Given the description of an element on the screen output the (x, y) to click on. 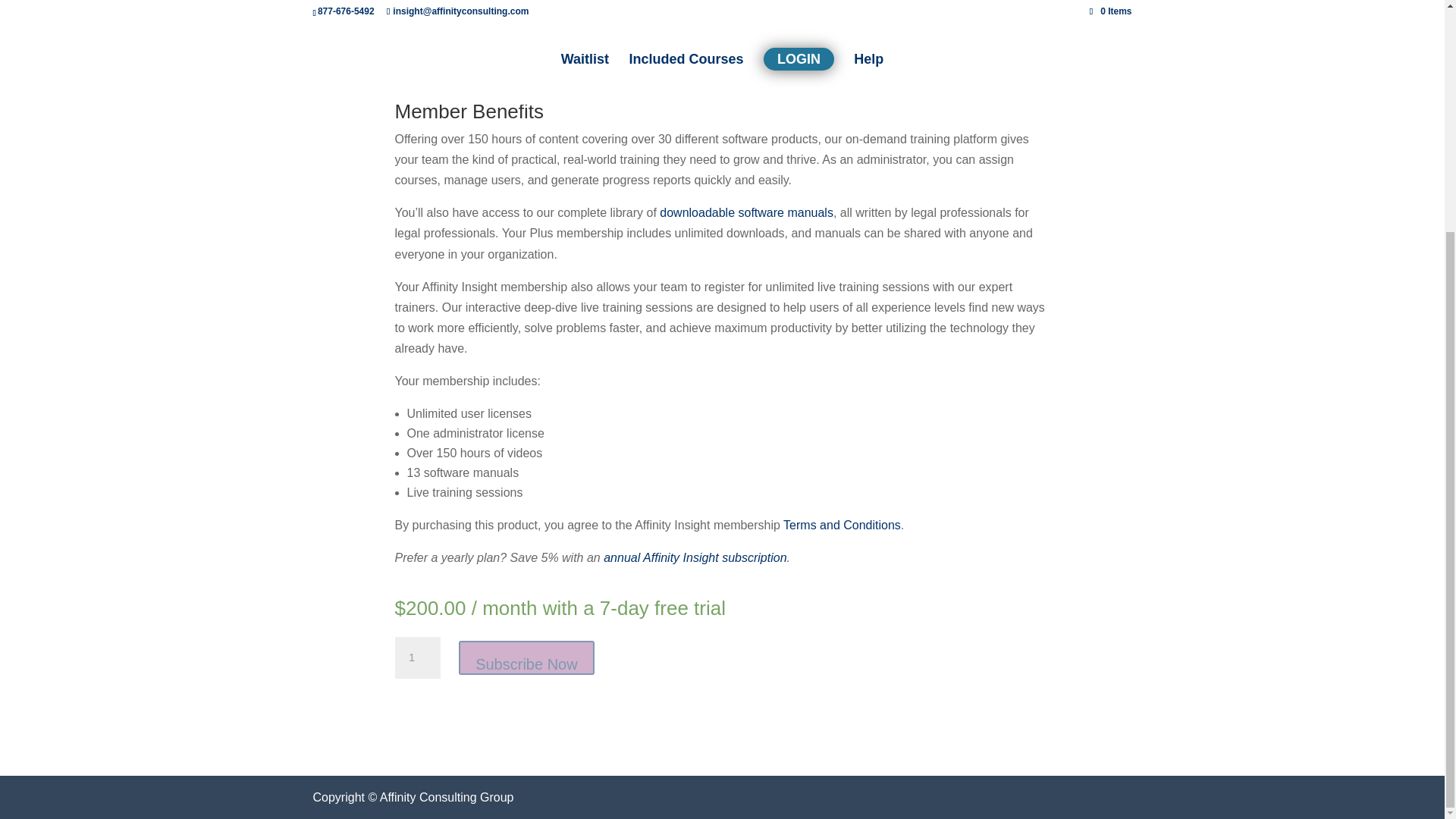
Terms and Conditions (842, 524)
1 (416, 658)
downloadable software manuals (745, 212)
Qty (416, 658)
Subscribe Now (526, 657)
annual Affinity Insight subscription (695, 557)
